Given the description of an element on the screen output the (x, y) to click on. 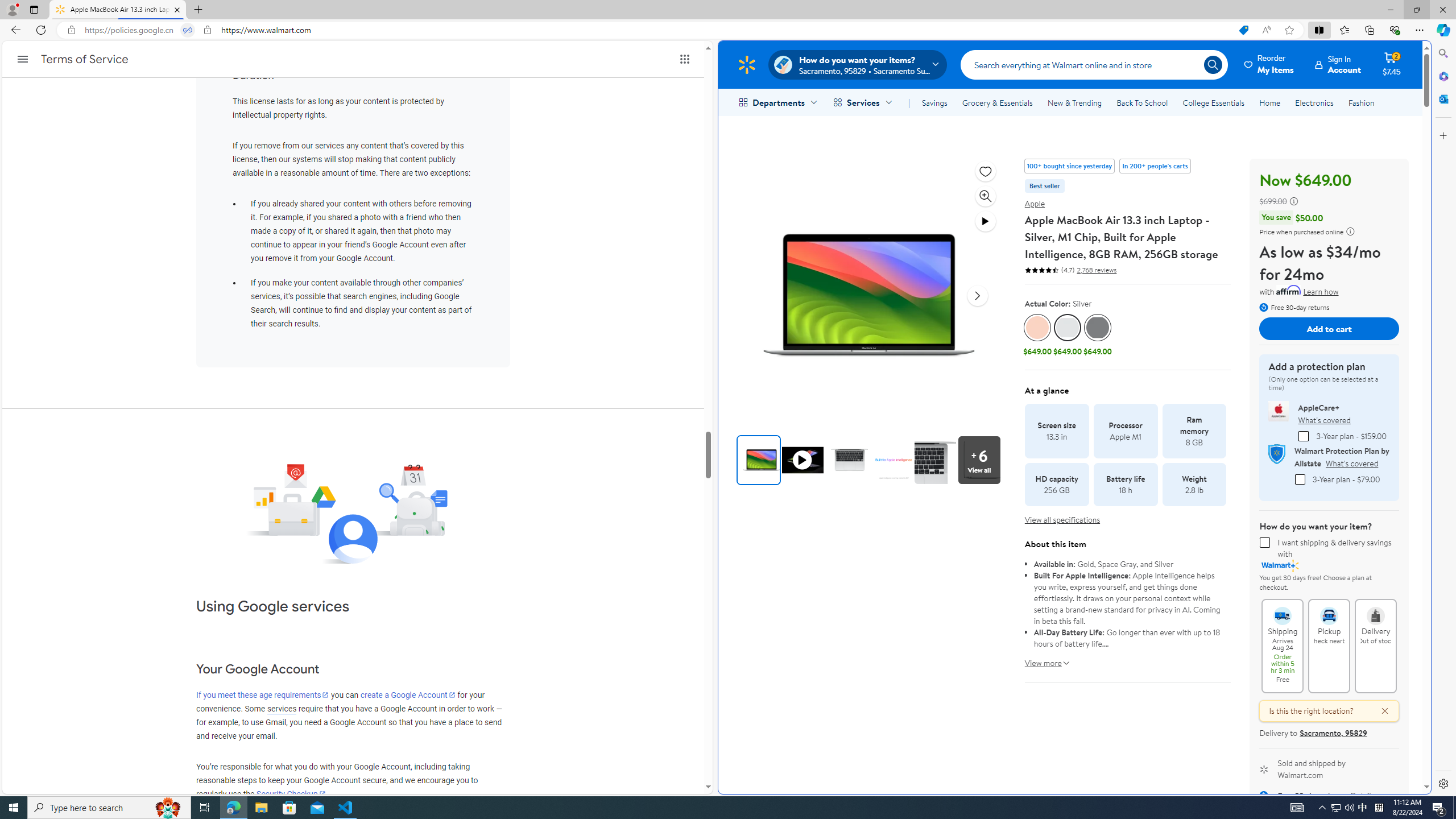
Gold (1037, 327)
Grocery & Essentials (997, 102)
Grocery & Essentials (997, 102)
Affirm (1288, 289)
2,768 reviews (1095, 269)
Gold Gold, $649.00 (1037, 335)
Silver (1066, 327)
Cart contains 2 items Total Amount $7.45 (1391, 64)
Available in: Gold, Space Gray, and Silver (1127, 564)
